Given the description of an element on the screen output the (x, y) to click on. 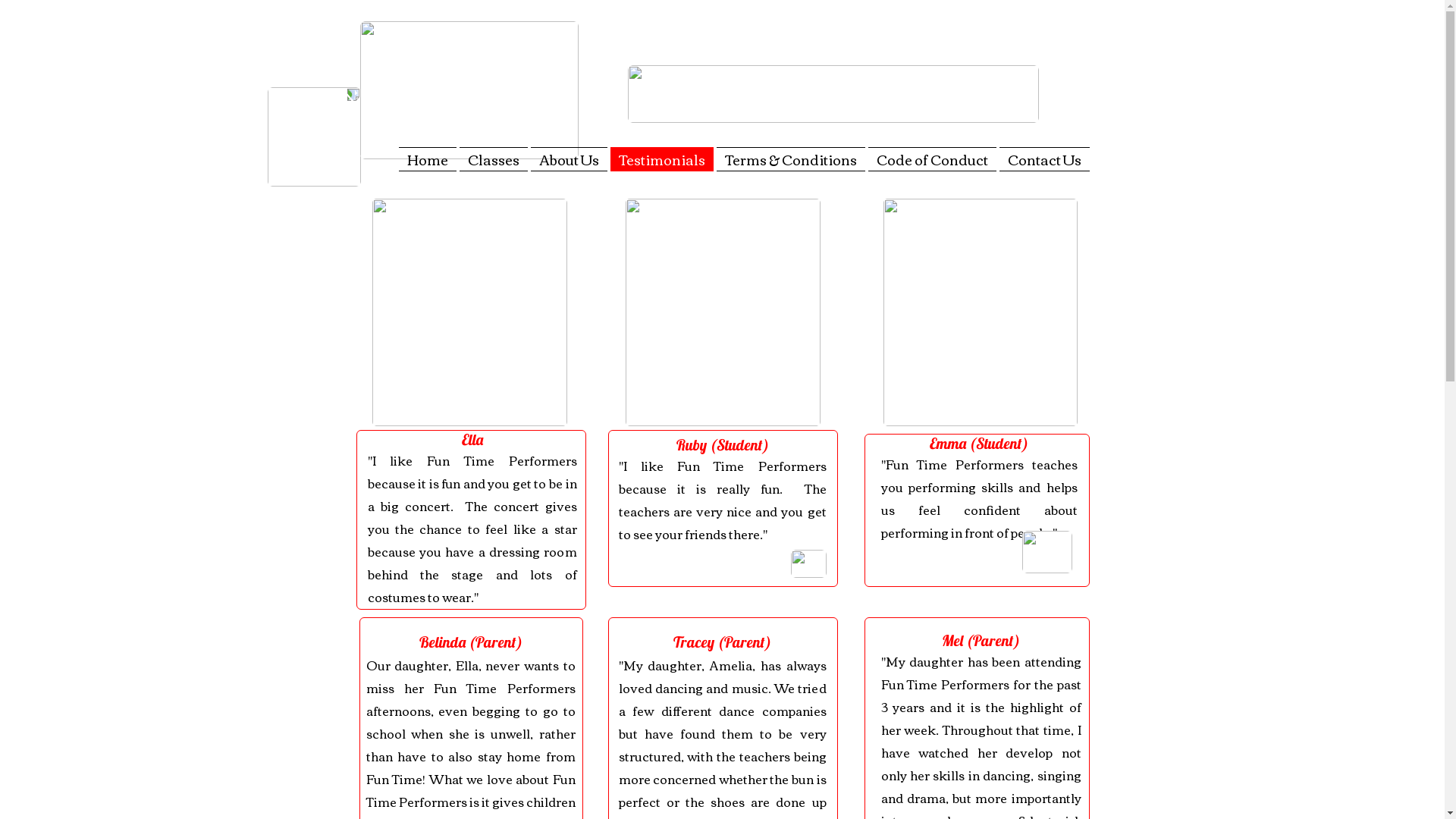
About Us Element type: text (568, 159)
Terms & Conditions Element type: text (790, 159)
Home Element type: text (428, 159)
Funtime girl single.jpg Element type: hover (979, 312)
Classes Element type: text (493, 159)
header-ar-blanca-black.png Element type: hover (832, 93)
Contact Us Element type: text (1043, 159)
Funtime happy girl.jpg Element type: hover (721, 312)
Final-logo_2.png Element type: hover (468, 90)
Code of Conduct Element type: text (931, 159)
Testimonials Element type: text (661, 159)
